Given the description of an element on the screen output the (x, y) to click on. 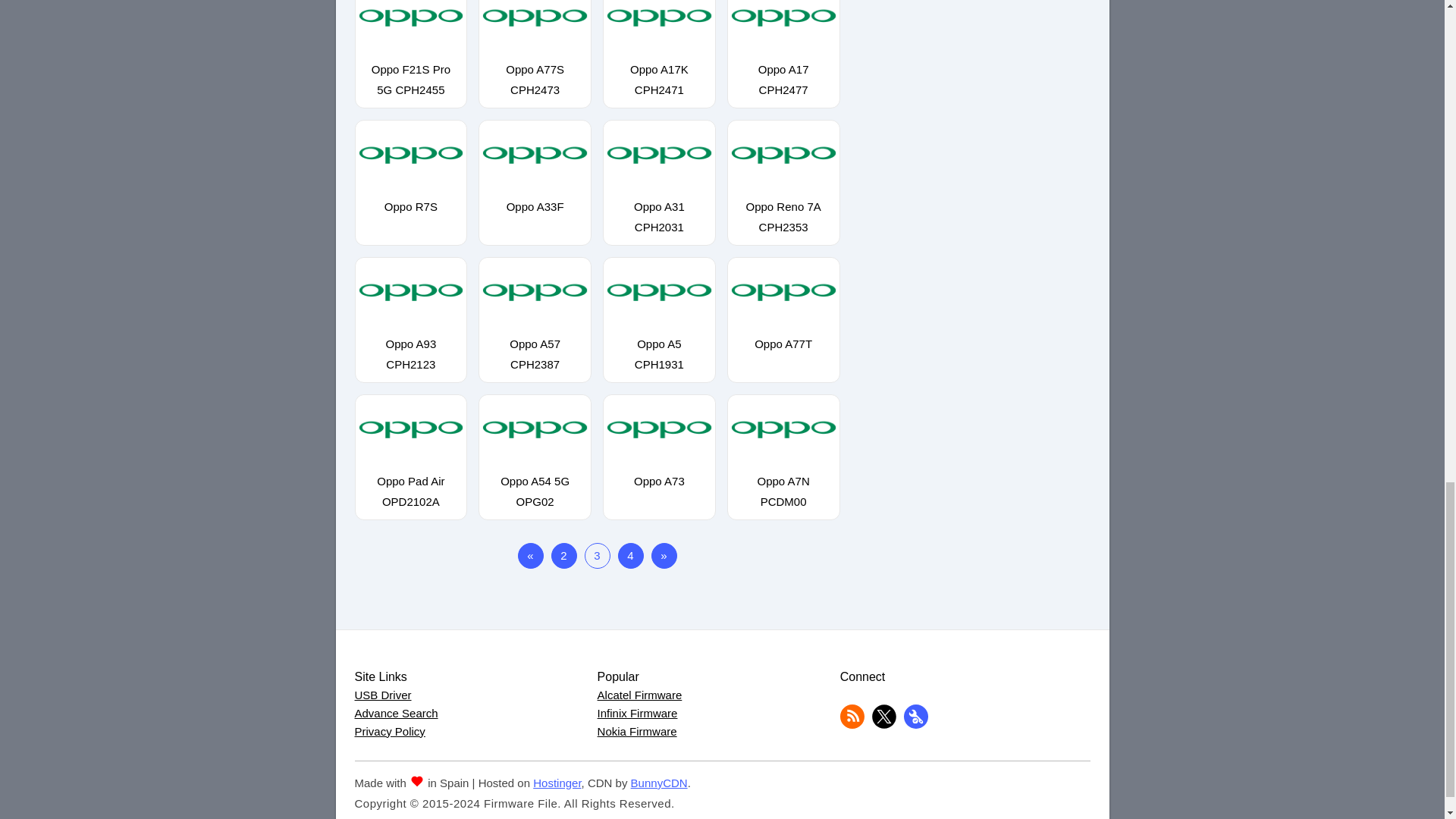
Twitter (884, 724)
Oppo R7S (410, 198)
Oppo A17K CPH2471 (659, 70)
RSS Feed (852, 724)
Oppo F21S Pro 5G CPH2455 (410, 70)
Technicians (916, 724)
Page 4 (630, 555)
Oppo A77S CPH2473 (535, 70)
Oppo A17 CPH2477 (784, 70)
Page 2 (563, 555)
